Given the description of an element on the screen output the (x, y) to click on. 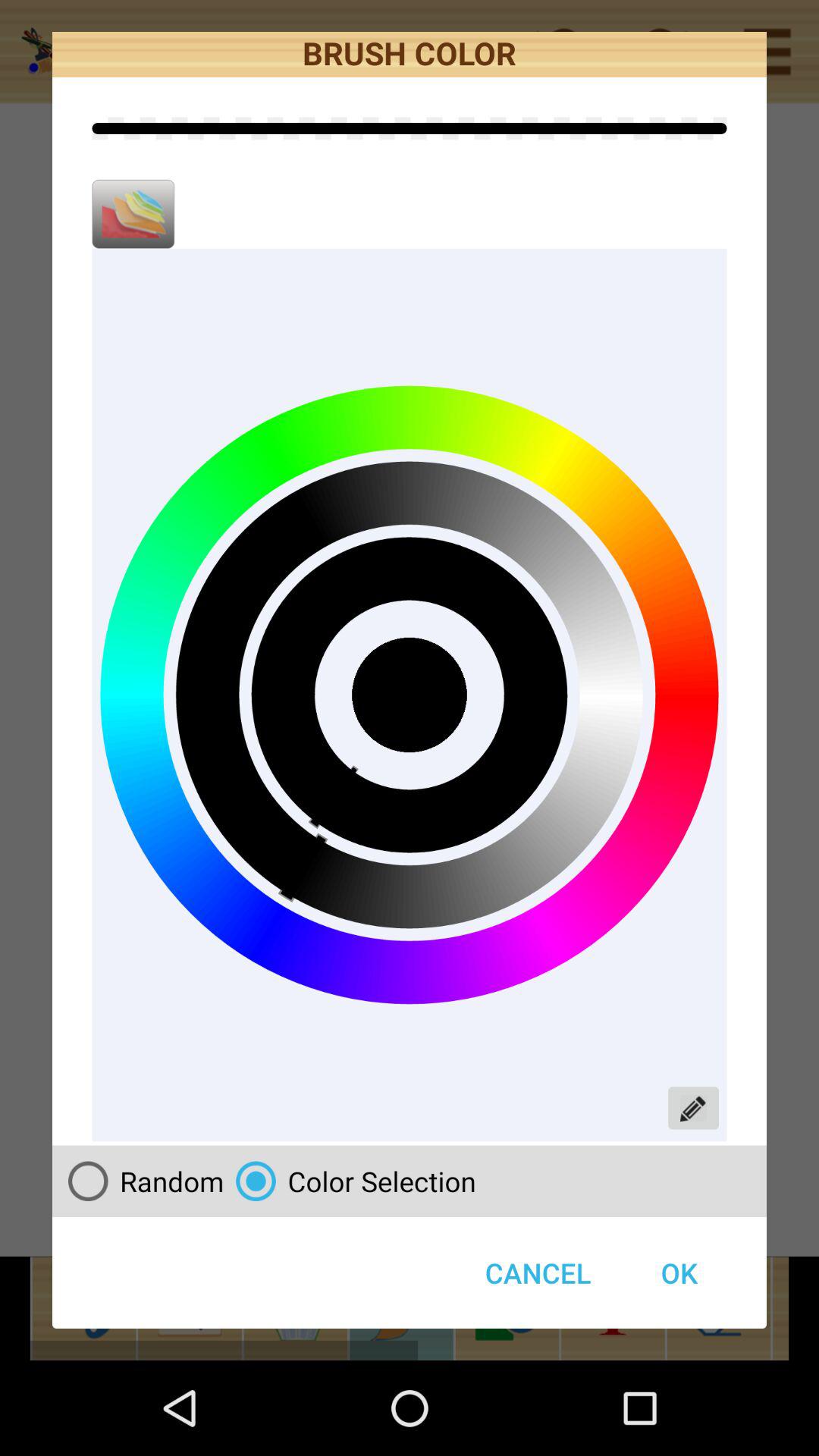
turn on color selection radio button (350, 1181)
